Given the description of an element on the screen output the (x, y) to click on. 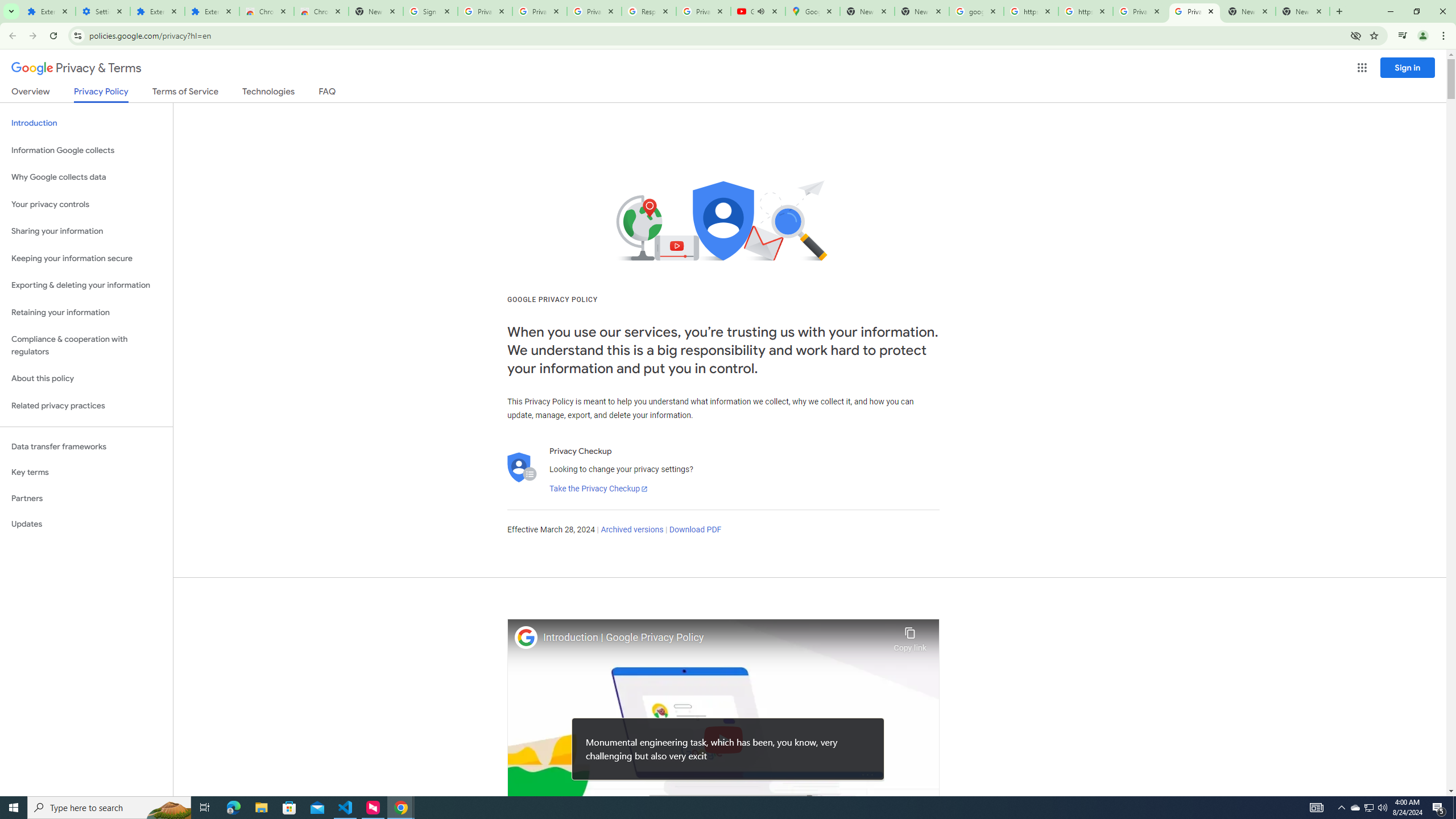
New Tab (375, 11)
Copy link (909, 636)
